Given the description of an element on the screen output the (x, y) to click on. 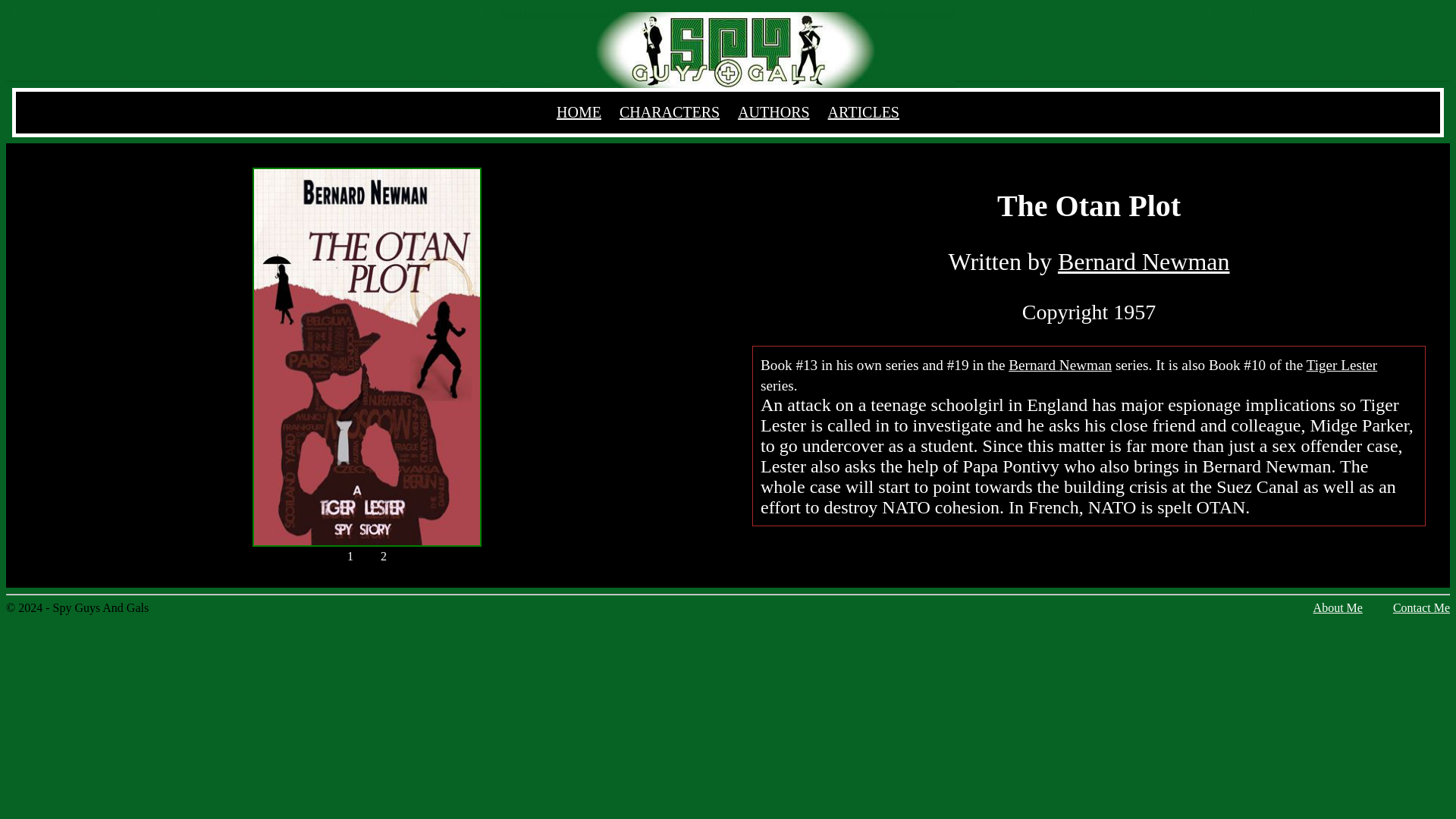
HOME (578, 112)
AUTHORS (773, 112)
Bernard Newman (1144, 261)
ARTICLES (863, 112)
Bernard Newman (1060, 365)
CHARACTERS (669, 112)
Tiger Lester (1341, 365)
